Given the description of an element on the screen output the (x, y) to click on. 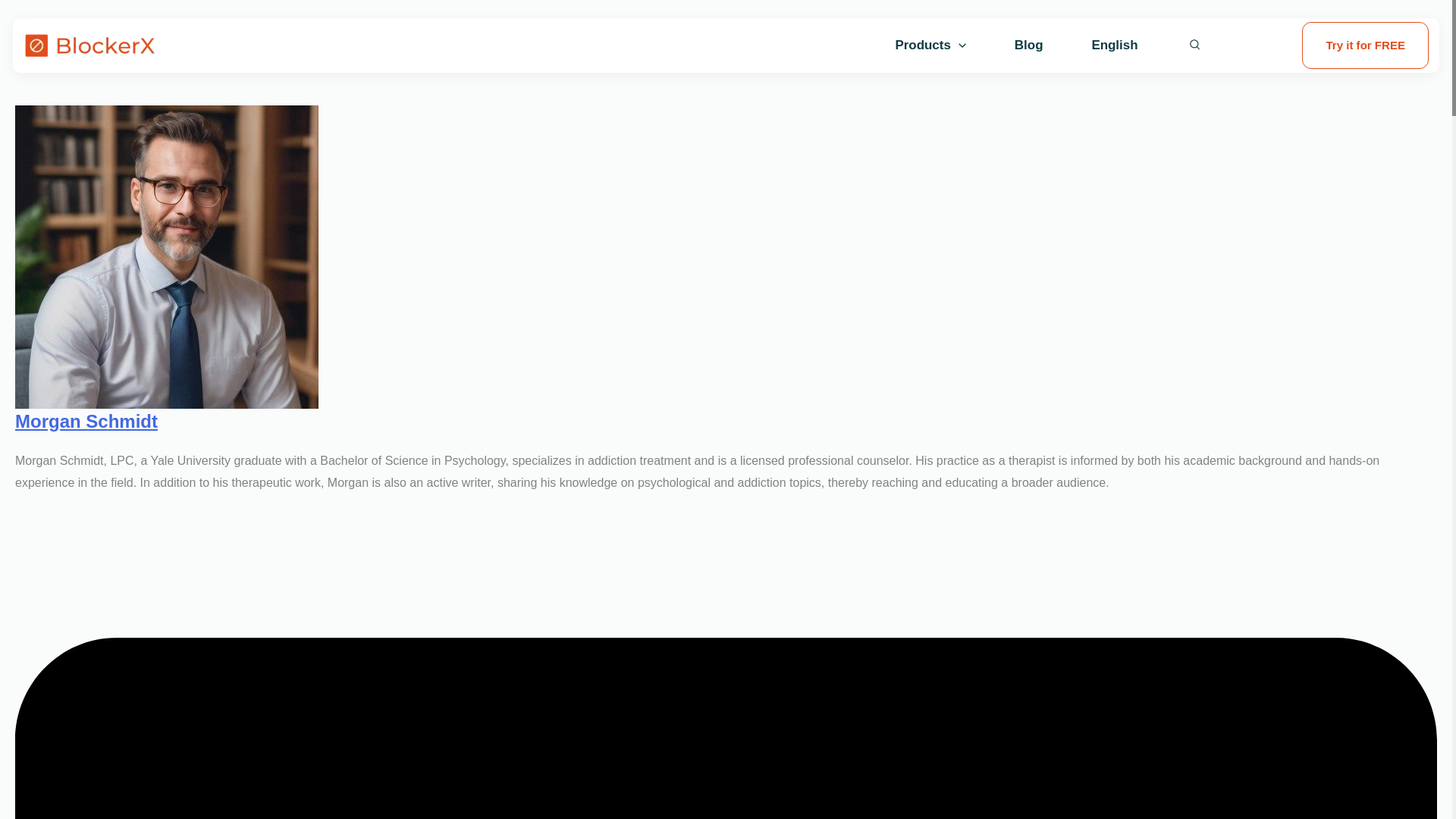
Blog (1029, 45)
Search (1225, 44)
English (1114, 45)
English (1114, 45)
Products (930, 45)
Try it for FREE (1353, 45)
Morgan Schmidt (85, 421)
